Given the description of an element on the screen output the (x, y) to click on. 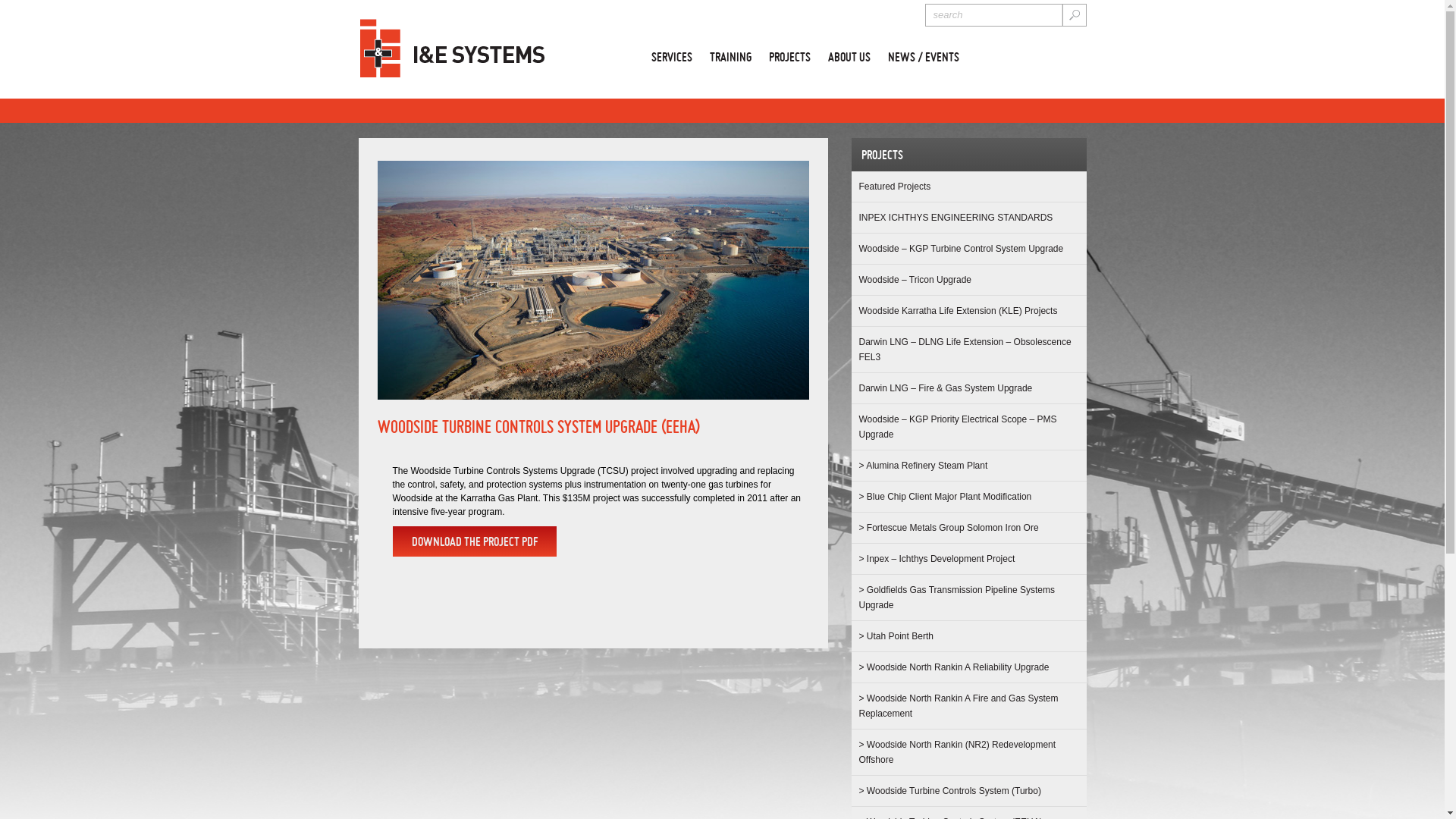
> Woodside North Rankin A Reliability Upgrade Element type: text (953, 667)
SERVICES Element type: text (670, 53)
Featured Projects Element type: text (894, 186)
> Woodside North Rankin (NR2) Redevelopment Offshore Element type: text (956, 752)
> Alumina Refinery Steam Plant Element type: text (922, 465)
> Blue Chip Client Major Plant Modification Element type: text (944, 496)
> Woodside North Rankin A Fire and Gas System Replacement Element type: text (957, 705)
NEWS / EVENTS Element type: text (922, 53)
ABOUT US Element type: text (849, 53)
TRAINING Element type: text (730, 53)
Woodside Karratha Life Extension (KLE) Projects Element type: text (957, 310)
> Goldfields Gas Transmission Pipeline Systems Upgrade Element type: text (956, 597)
> Utah Point Berth Element type: text (895, 635)
PROJECTS Element type: text (789, 53)
> Fortescue Metals Group Solomon Iron Ore Element type: text (948, 527)
> Woodside Turbine Controls System (Turbo) Element type: text (949, 790)
DOWNLOAD THE PROJECT PDF Element type: text (474, 541)
INPEX ICHTHYS ENGINEERING STANDARDS Element type: text (955, 217)
